Given the description of an element on the screen output the (x, y) to click on. 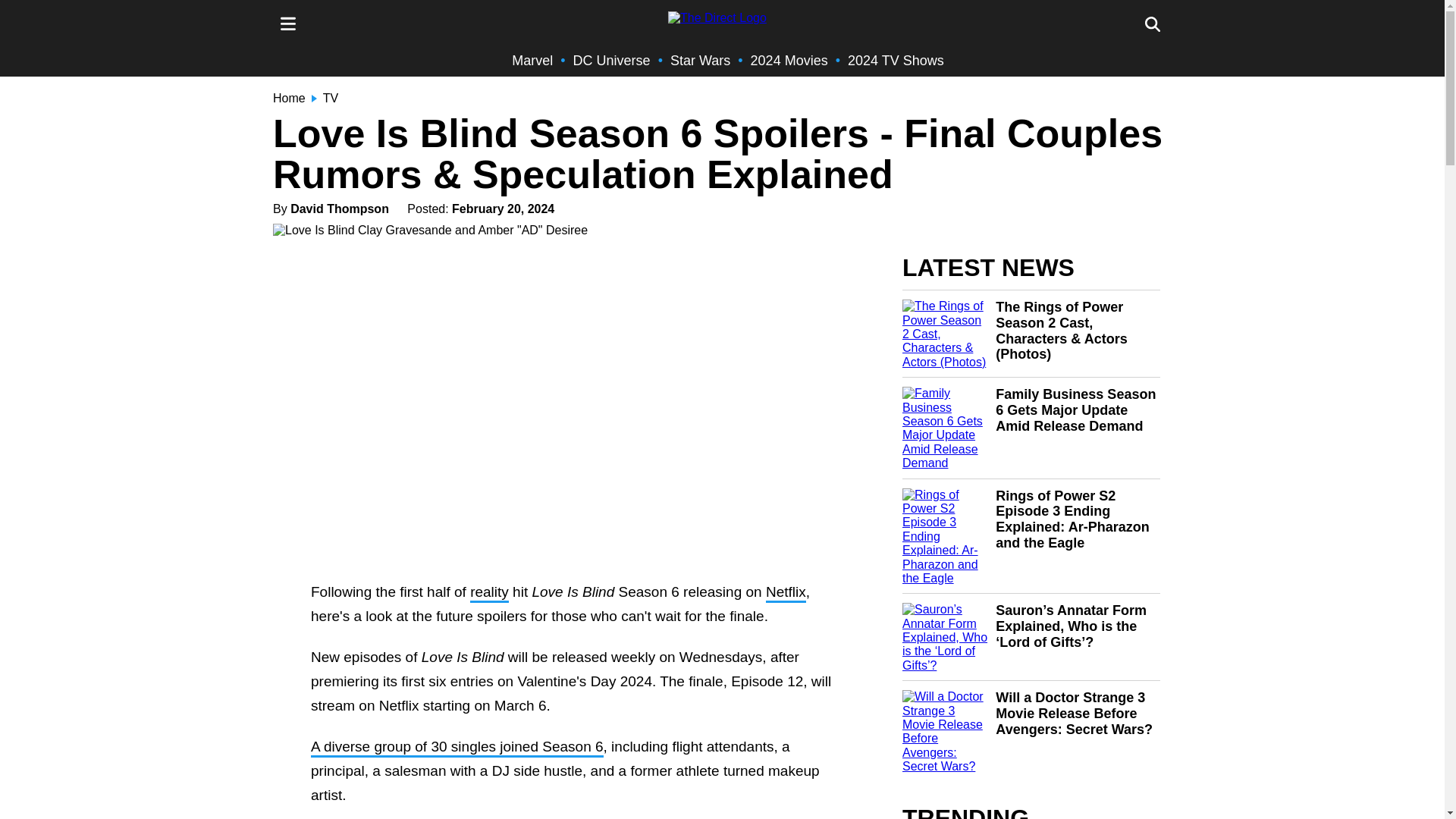
DC Universe (611, 60)
2024 TV Shows (895, 60)
Star Wars (699, 60)
Marvel (532, 60)
2024 Movies (789, 60)
